Given the description of an element on the screen output the (x, y) to click on. 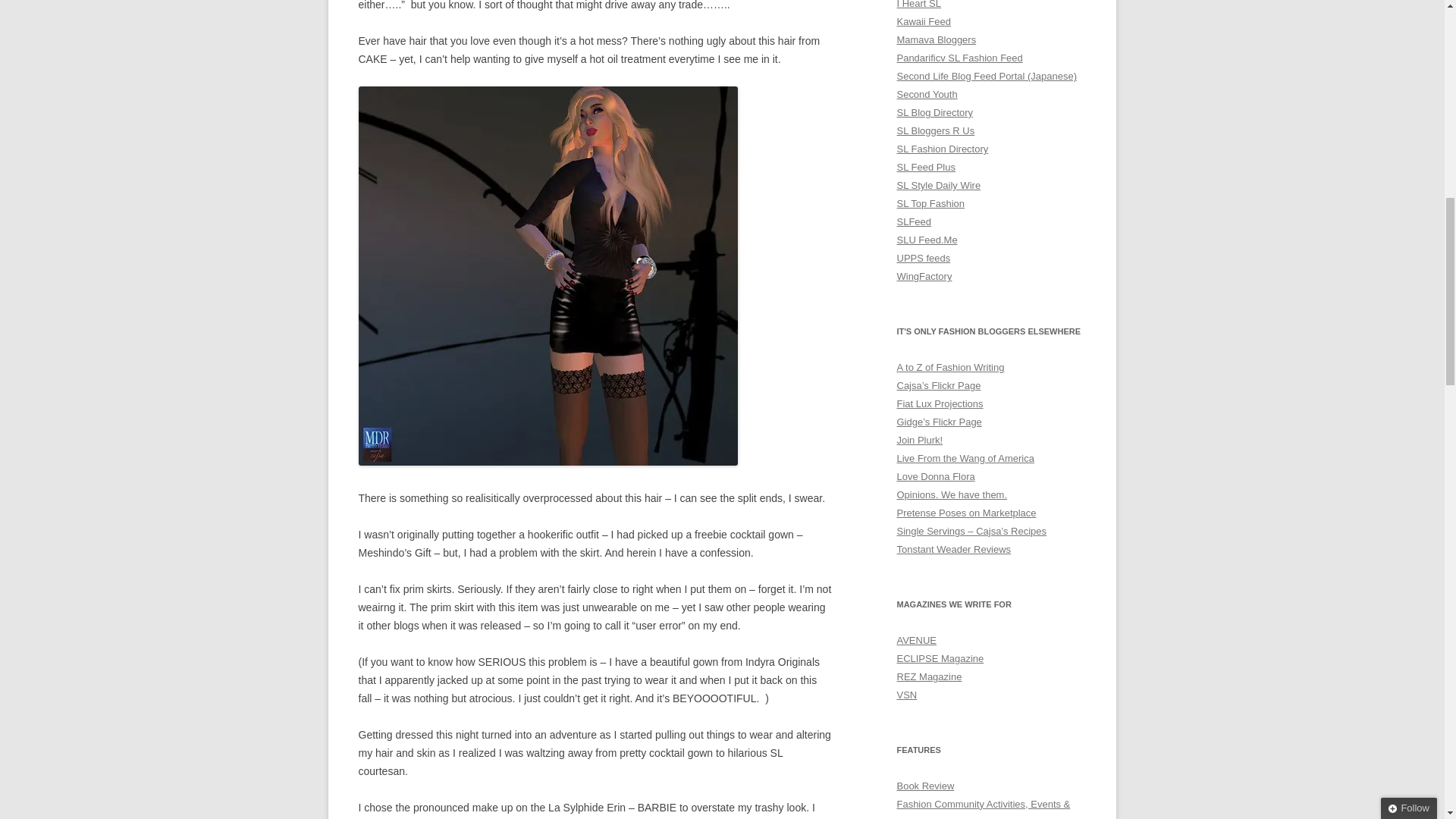
Op-eds on first and second life.  (951, 494)
Sign me up! (1312, 156)
Email Address (1348, 128)
